Given the description of an element on the screen output the (x, y) to click on. 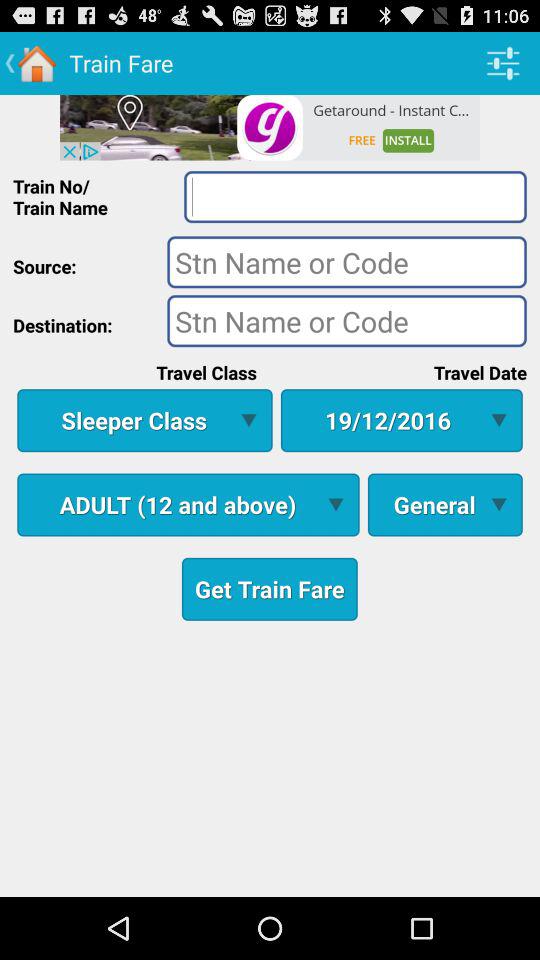
open advertisement (270, 127)
